Given the description of an element on the screen output the (x, y) to click on. 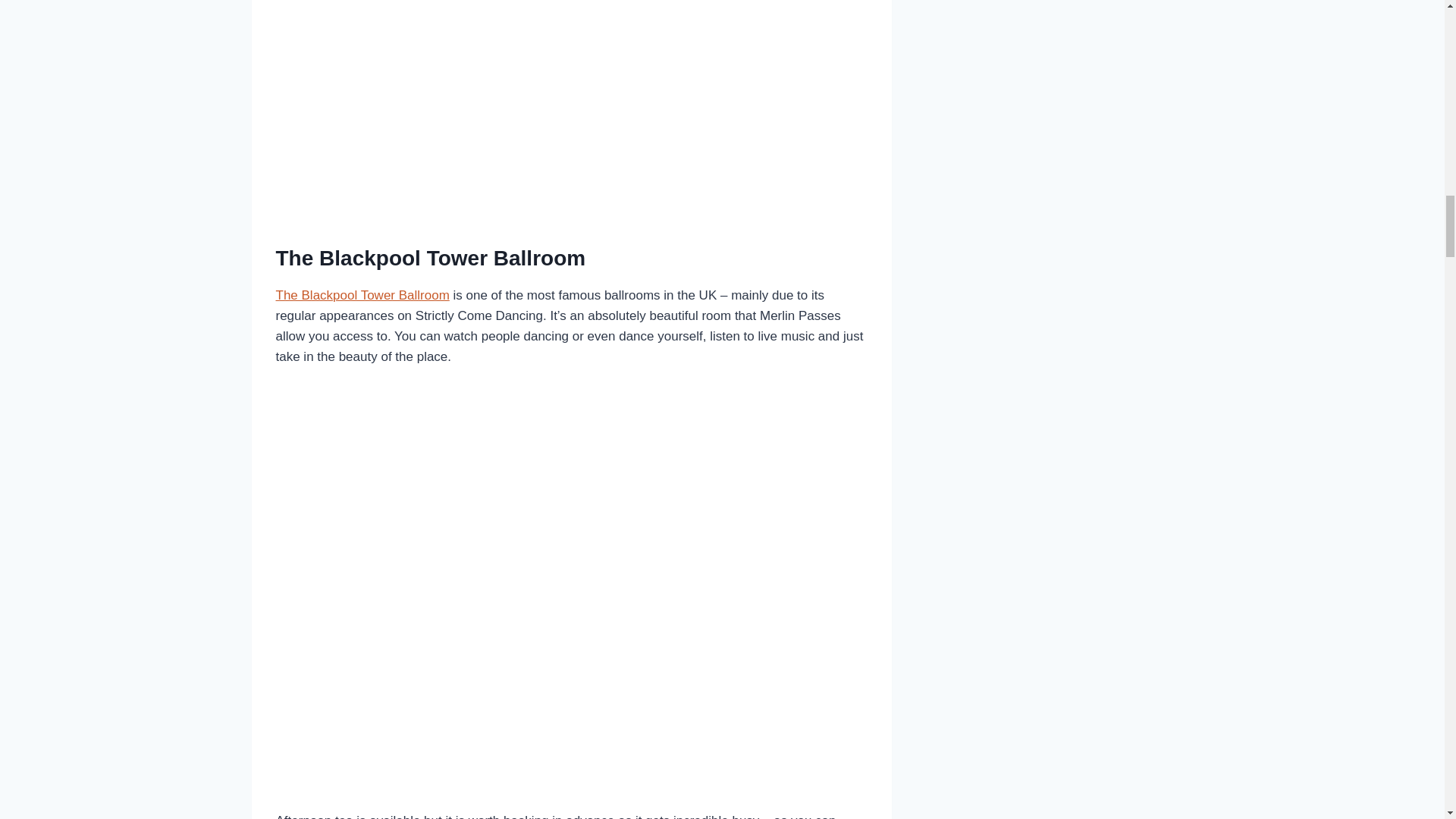
The Blackpool Tower Ballroom (362, 295)
